Given the description of an element on the screen output the (x, y) to click on. 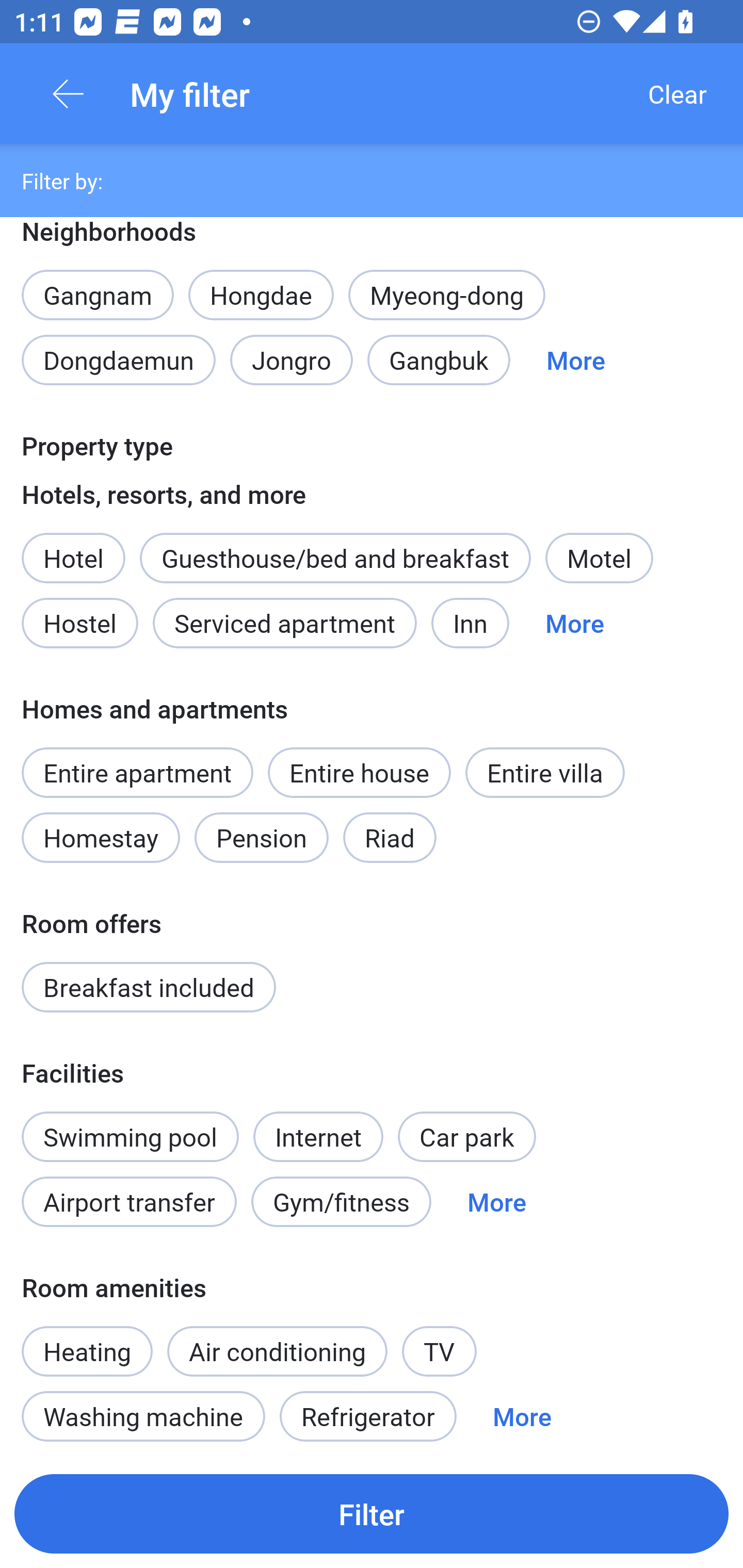
Clear (676, 93)
Gangnam (97, 284)
Hongdae (260, 295)
Myeong-dong (446, 295)
Dongdaemun (118, 359)
Jongro (291, 359)
Gangbuk (438, 359)
More (575, 359)
Hotel (73, 547)
Guesthouse/bed and breakfast (335, 558)
Motel (599, 558)
Hostel (79, 623)
Serviced apartment (284, 623)
Inn (470, 623)
More (574, 623)
Entire apartment (137, 772)
Entire house (359, 772)
Entire villa (544, 772)
Homestay (100, 837)
Pension (261, 837)
Riad (389, 837)
Breakfast included (148, 986)
Swimming pool (130, 1136)
Internet (318, 1125)
Car park (466, 1136)
Airport transfer (129, 1201)
Gym/fitness (341, 1201)
More (496, 1201)
Heating (87, 1340)
Air conditioning (277, 1350)
TV (439, 1350)
Washing machine (143, 1416)
Refrigerator (367, 1416)
More (522, 1416)
Filter (371, 1513)
